Given the description of an element on the screen output the (x, y) to click on. 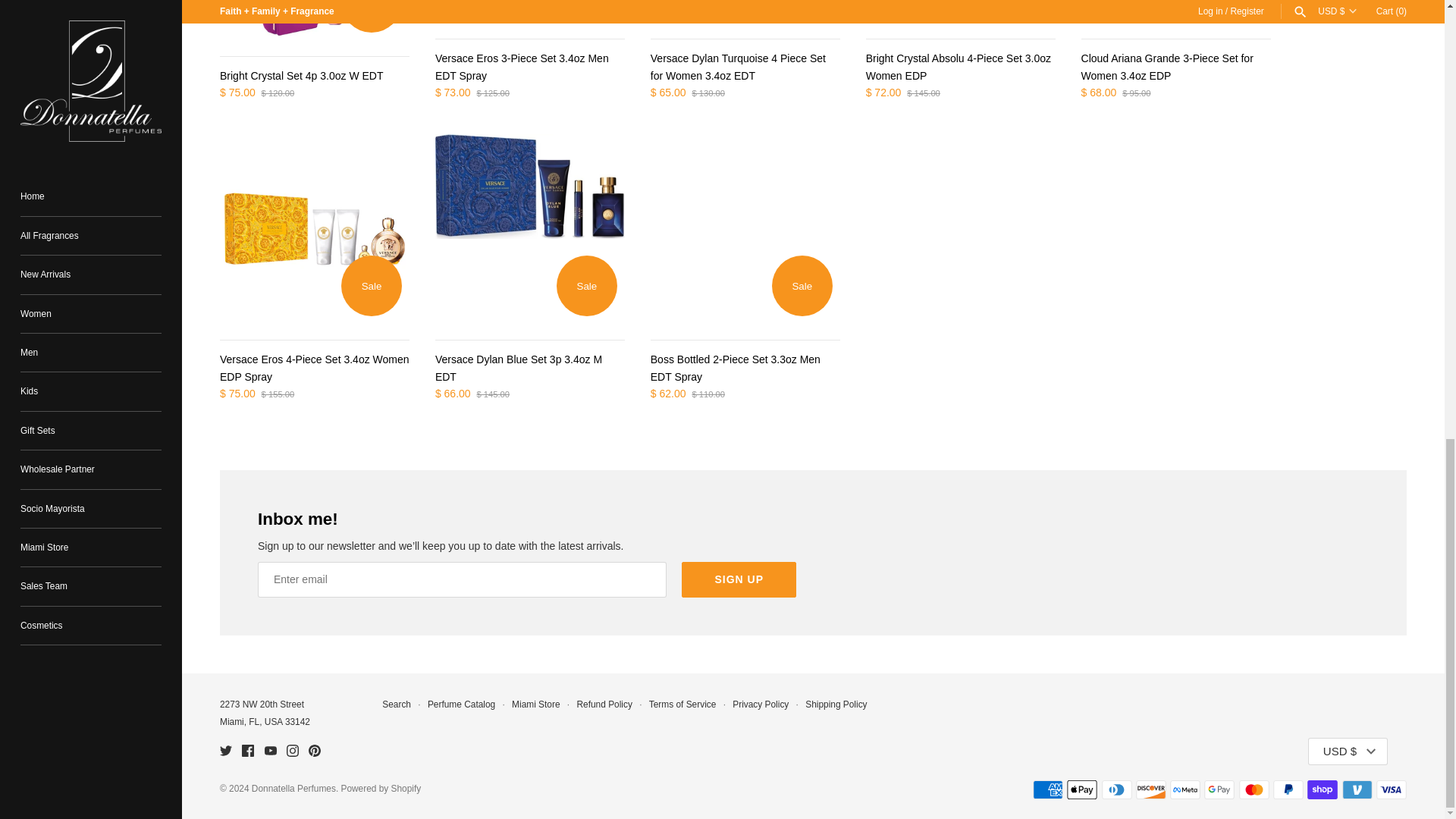
Versace Eros 4-Piece Set 3.4oz Women EDP Spray (314, 228)
Mastercard (1254, 789)
Cloud Ariana Grande 3-Piece Set for Women 3.4oz EDP (1176, 11)
Meta Pay (1184, 789)
Versace Eros 3-Piece Set 3.4oz Men EDT Spray (529, 11)
Bright Crystal Set 4p 3.0oz W EDT (314, 20)
Instagram (292, 750)
American Express (1047, 789)
Pinterest (314, 750)
PayPal (1287, 789)
